Given the description of an element on the screen output the (x, y) to click on. 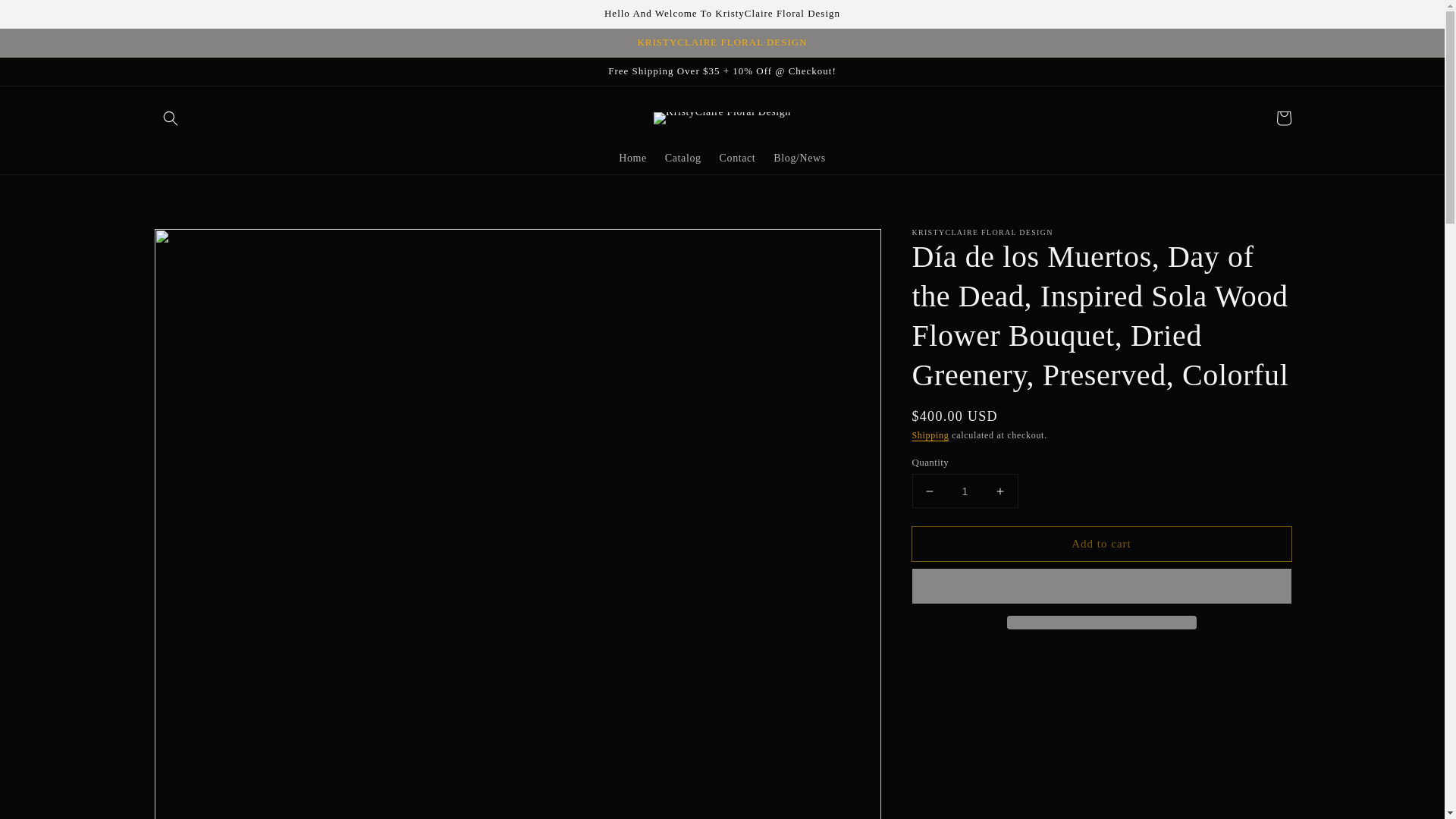
Cart (1283, 118)
1 (964, 490)
Shipping (930, 434)
Home (633, 158)
Contact (737, 158)
Skip to product information (198, 244)
Catalog (683, 158)
Add to cart (1100, 544)
Skip to content (45, 16)
